Given the description of an element on the screen output the (x, y) to click on. 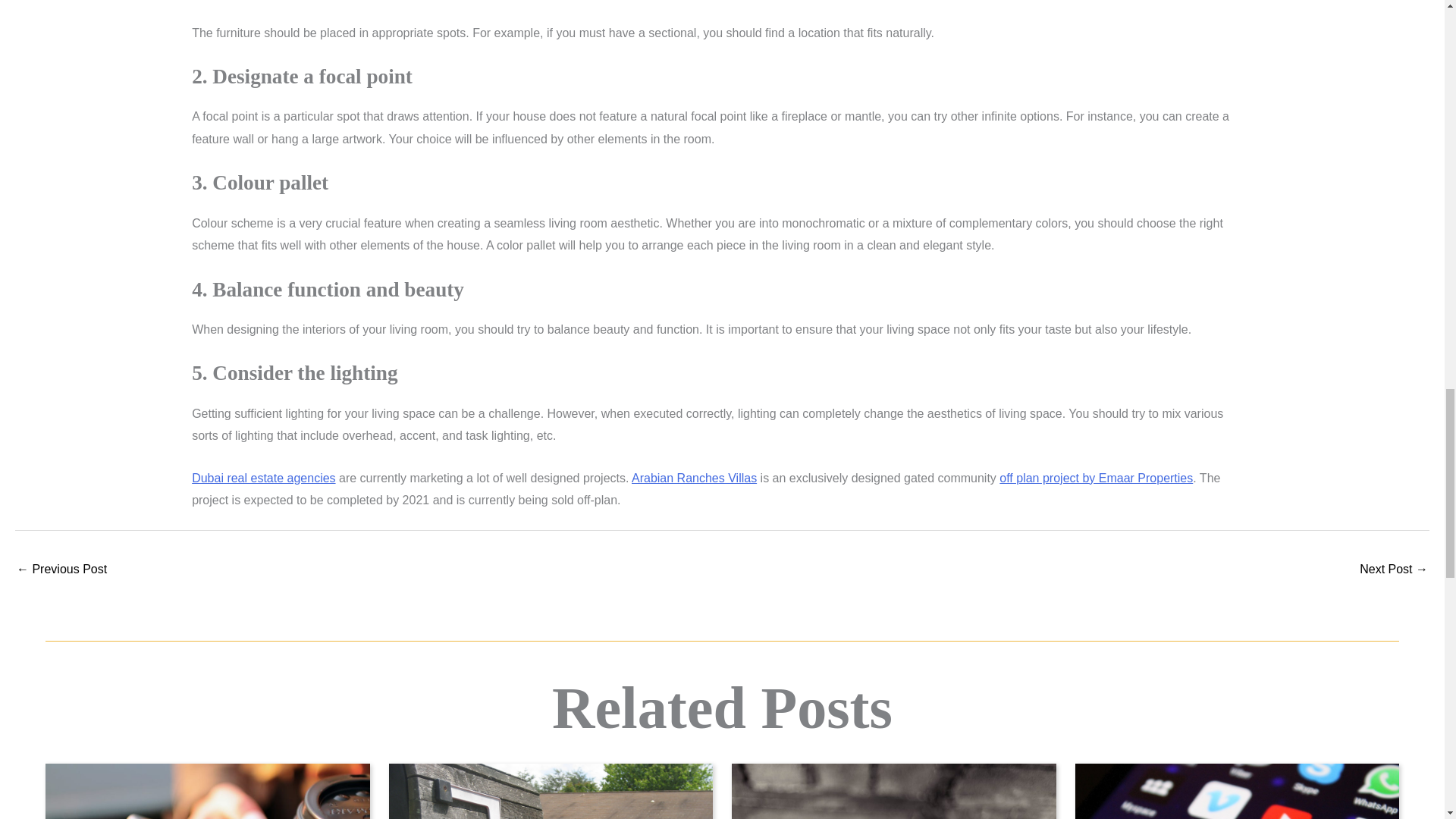
Dubai real estate agencies (263, 477)
Arabian Ranches Villas (694, 477)
Tips to prepare your house for real estate photography (1393, 570)
5 things you must ask your real estate agent (61, 570)
off plan project by Emaar Properties (1095, 477)
